Given the description of an element on the screen output the (x, y) to click on. 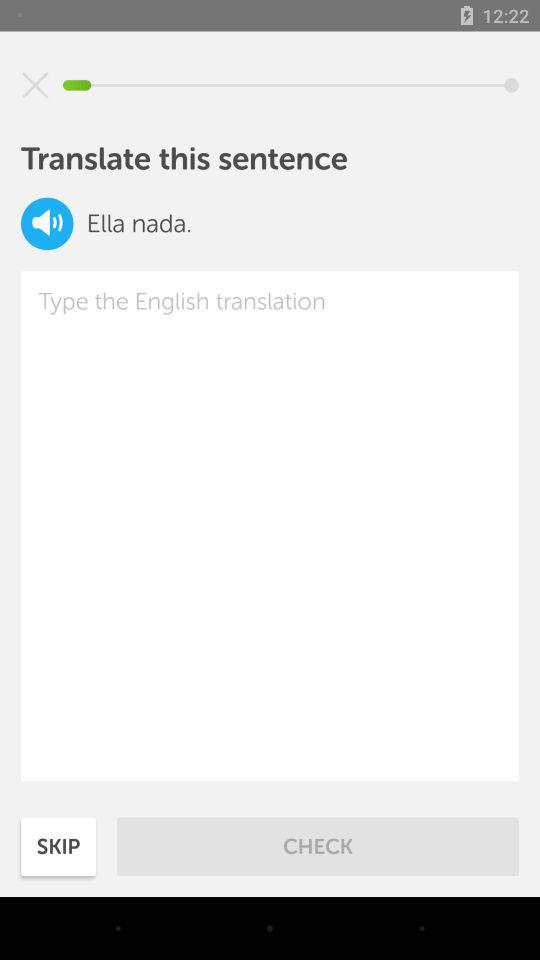
close button (35, 85)
